Given the description of an element on the screen output the (x, y) to click on. 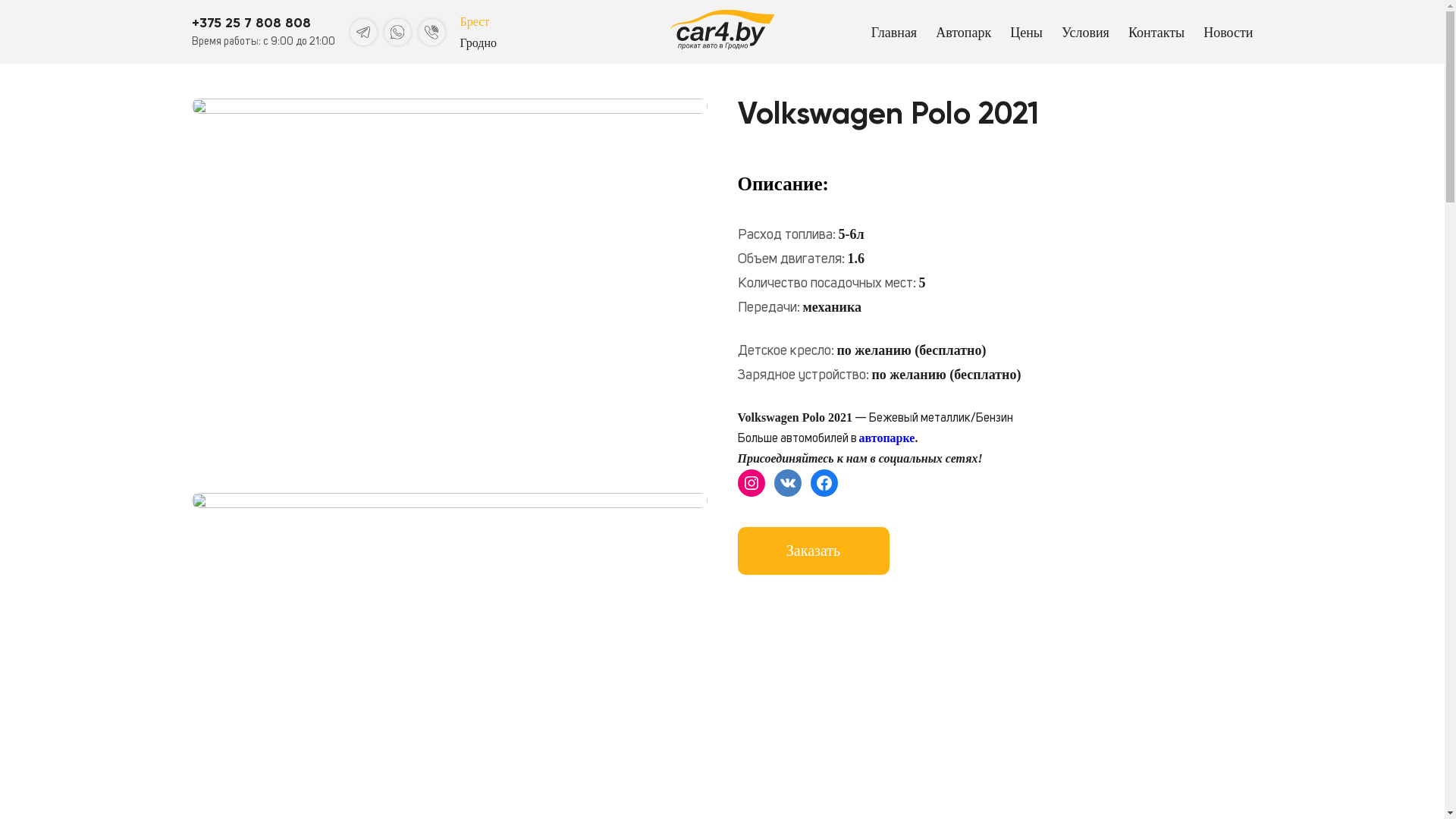
Facebook Element type: text (823, 482)
VK Element type: text (786, 482)
Instagram Element type: text (750, 482)
+375 25 7 808 808 Element type: text (250, 22)
